Given the description of an element on the screen output the (x, y) to click on. 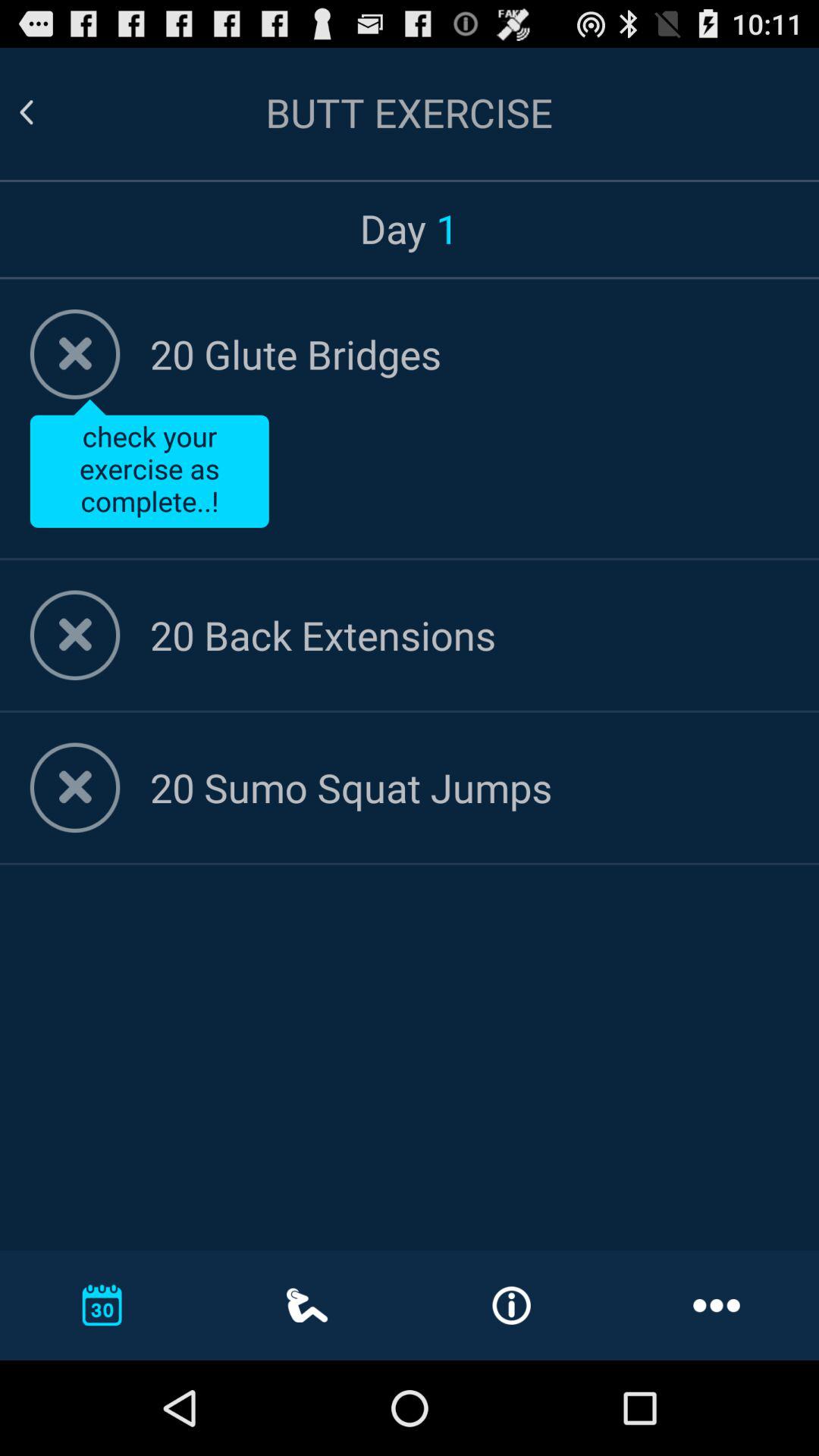
indicate completion (75, 354)
